Given the description of an element on the screen output the (x, y) to click on. 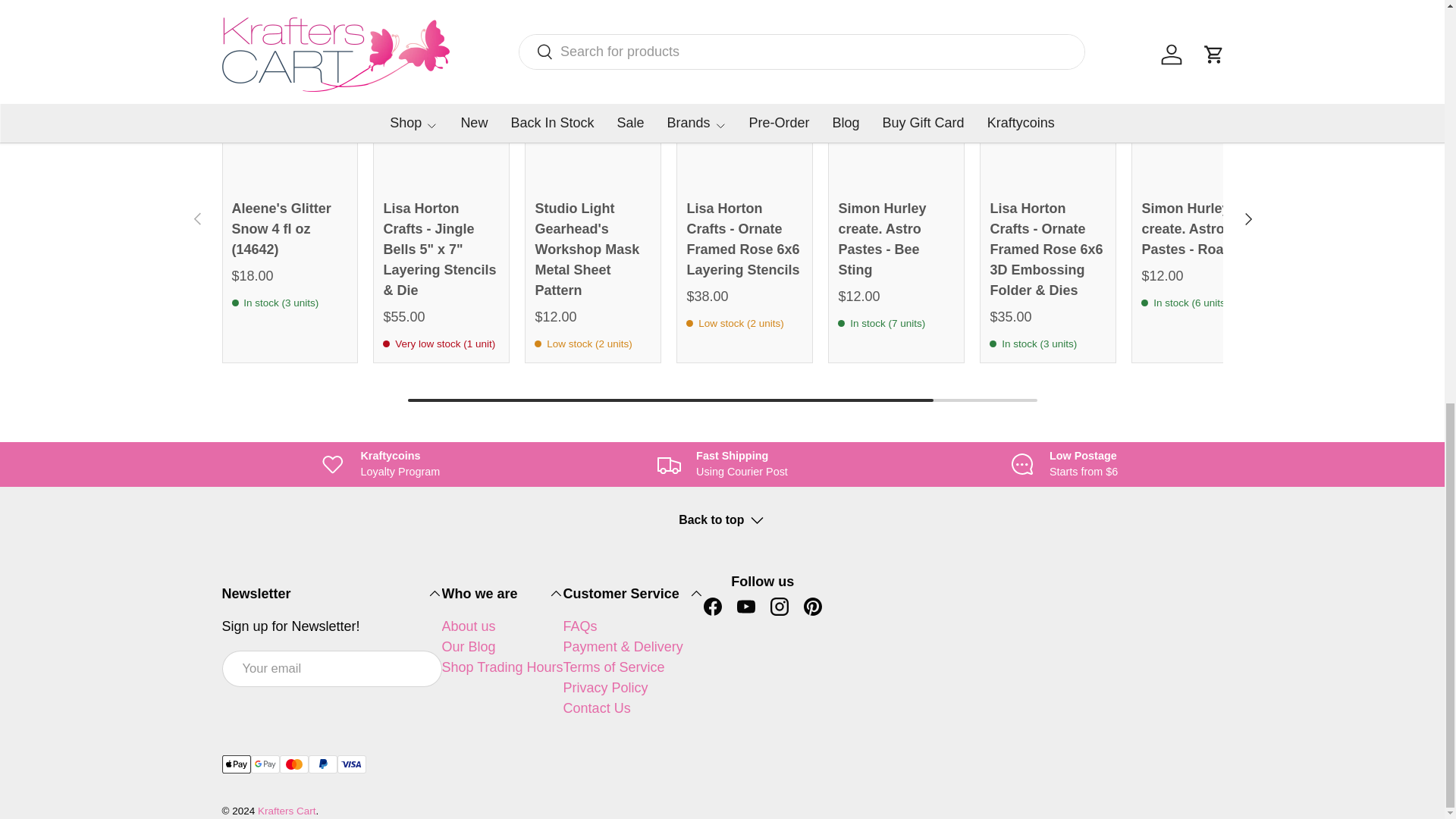
Krafters Cart on Pinterest (812, 606)
Krafters Cart on Facebook (712, 606)
Krafters Cart on Instagram (779, 606)
Krafters Cart on YouTube (745, 606)
